Given the description of an element on the screen output the (x, y) to click on. 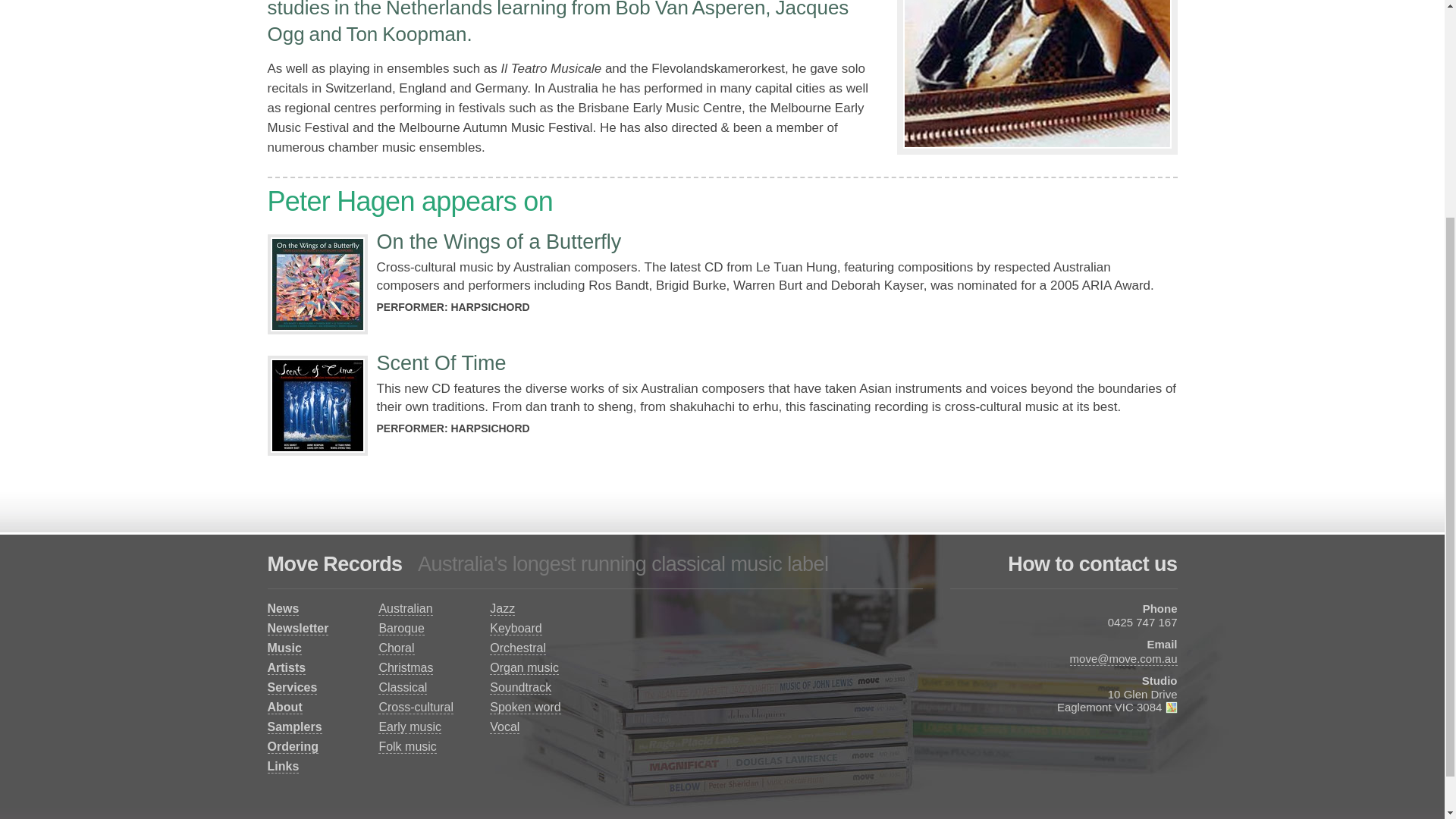
Cross-cultural (415, 707)
Keyboard (515, 628)
On the Wings of a Butterfly (498, 241)
Artists (285, 667)
Folk music (406, 746)
Baroque (401, 628)
Classical (402, 687)
Ordering (292, 746)
Australian (405, 608)
Choral (395, 648)
